Given the description of an element on the screen output the (x, y) to click on. 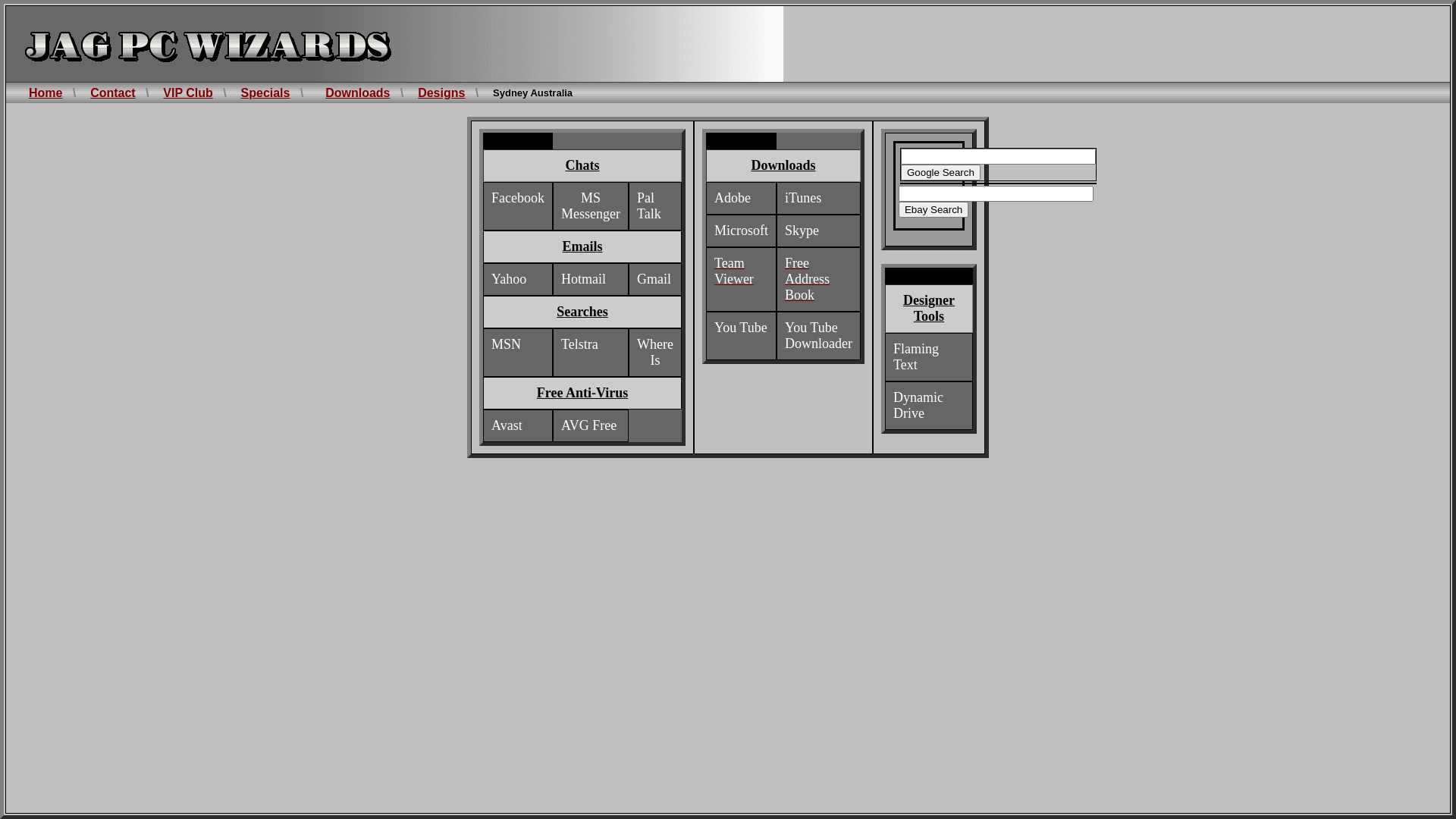
iTunes Element type: text (802, 197)
Downloads Element type: text (357, 92)
Gmail Element type: text (654, 279)
Home Element type: text (45, 92)
Team Viewer Element type: text (733, 271)
Telstra Element type: text (579, 344)
MSN Element type: text (505, 344)
Flaming Text        Element type: text (917, 356)
VIP Club Element type: text (188, 92)
You Tube
Downloader Element type: text (818, 335)
Hotmail Element type: text (583, 279)
Where Is Element type: text (655, 352)
You Tube Element type: text (740, 327)
Pal Talk Element type: text (649, 205)
Yahoo Element type: text (508, 279)
Free Address Book Element type: text (806, 279)
Microsoft Element type: text (741, 230)
Avast Element type: text (506, 425)
MS Messenger Element type: text (590, 205)
Contact Element type: text (112, 92)
Adobe Element type: text (732, 197)
Facebook Element type: text (517, 197)
Ebay Search Element type: text (933, 209)
Dynamic Drive Element type: text (918, 405)
Skype Element type: text (801, 230)
Designs Element type: text (440, 92)
AVG Free Element type: text (588, 425)
Specials Element type: text (265, 92)
Google Search Element type: text (940, 172)
